Given the description of an element on the screen output the (x, y) to click on. 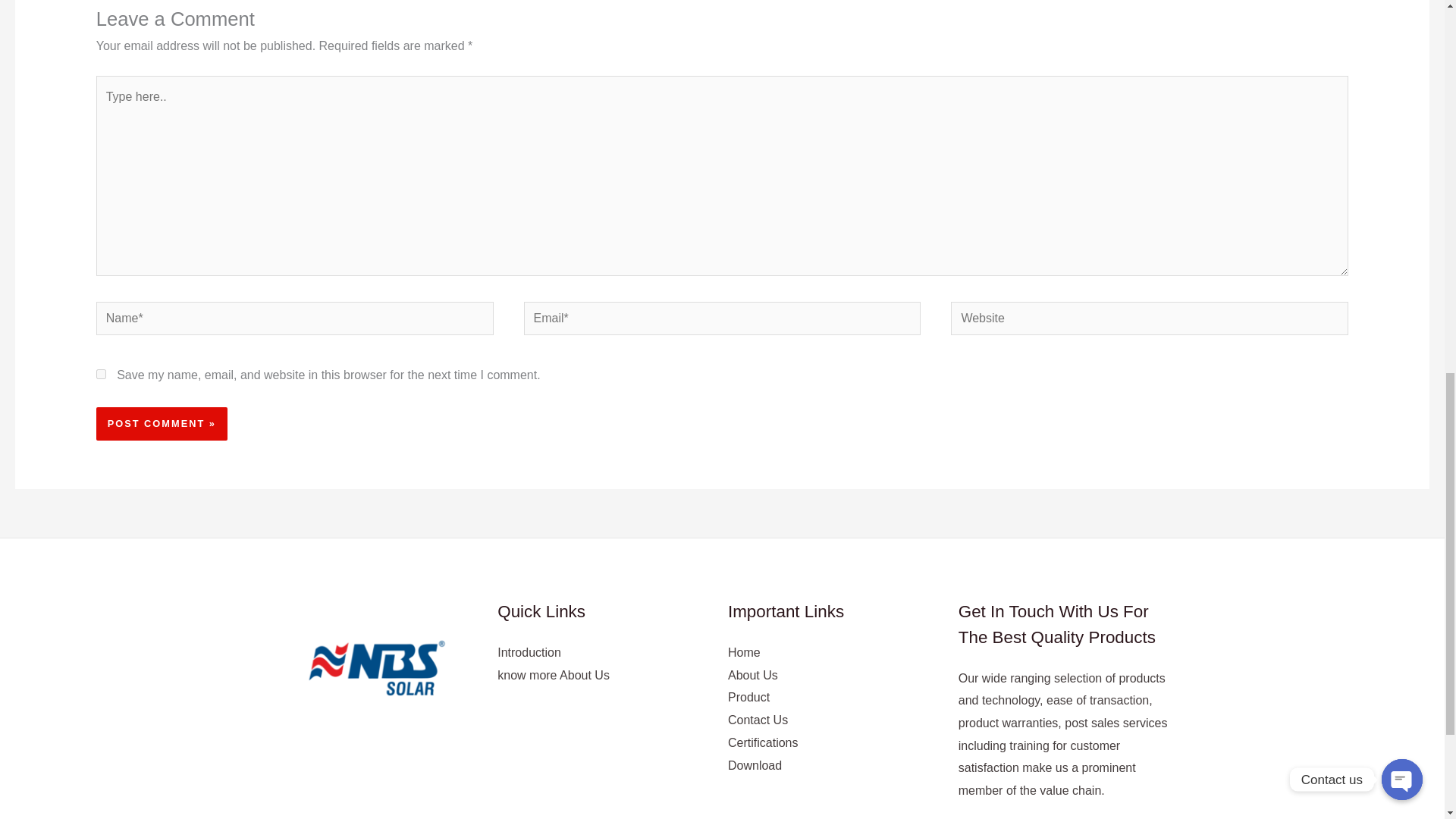
Introduction (528, 652)
know more About Us (553, 675)
Product (749, 697)
Home (744, 652)
yes (101, 374)
About Us (752, 675)
